Given the description of an element on the screen output the (x, y) to click on. 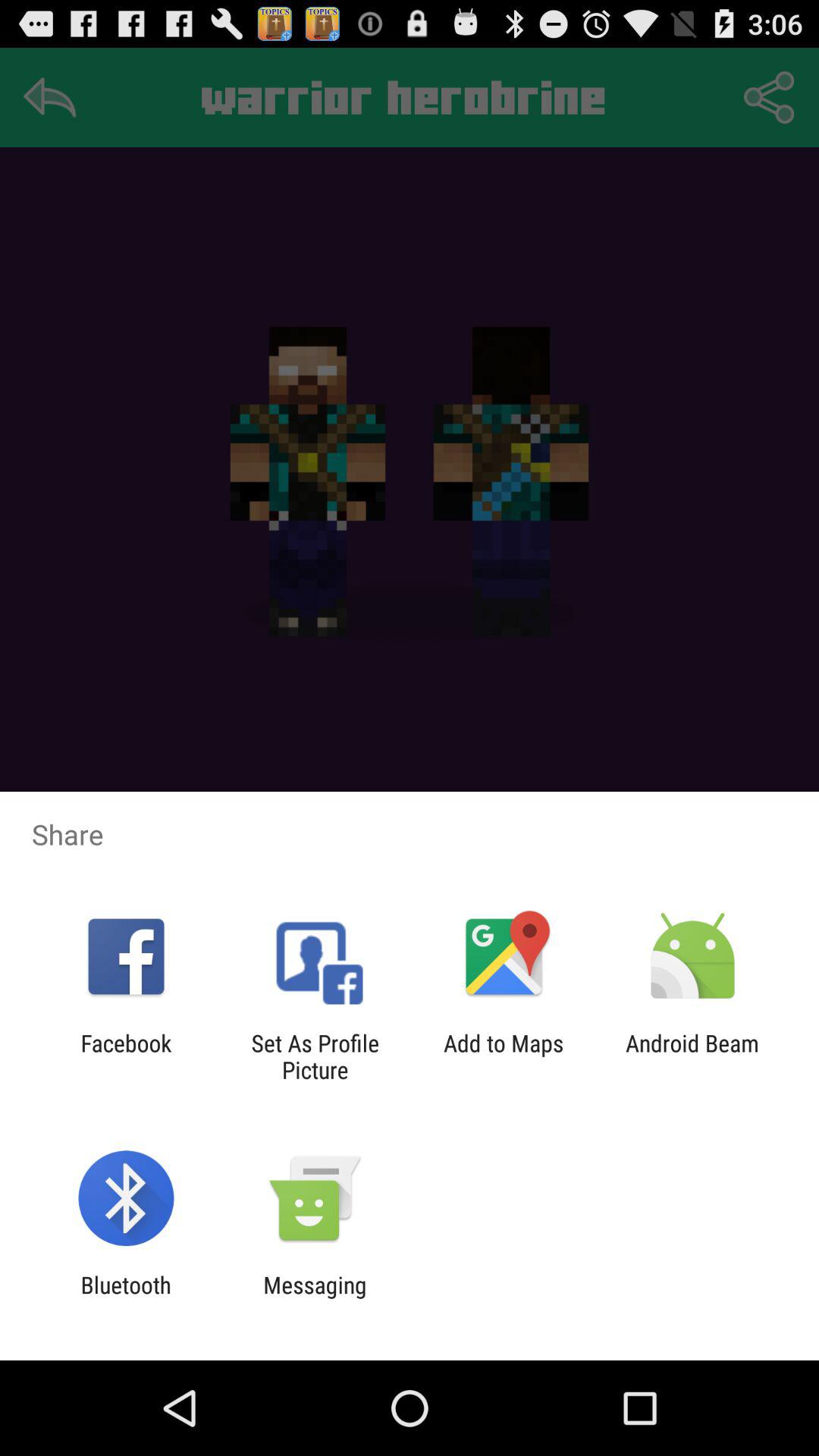
click icon next to the facebook app (314, 1056)
